Given the description of an element on the screen output the (x, y) to click on. 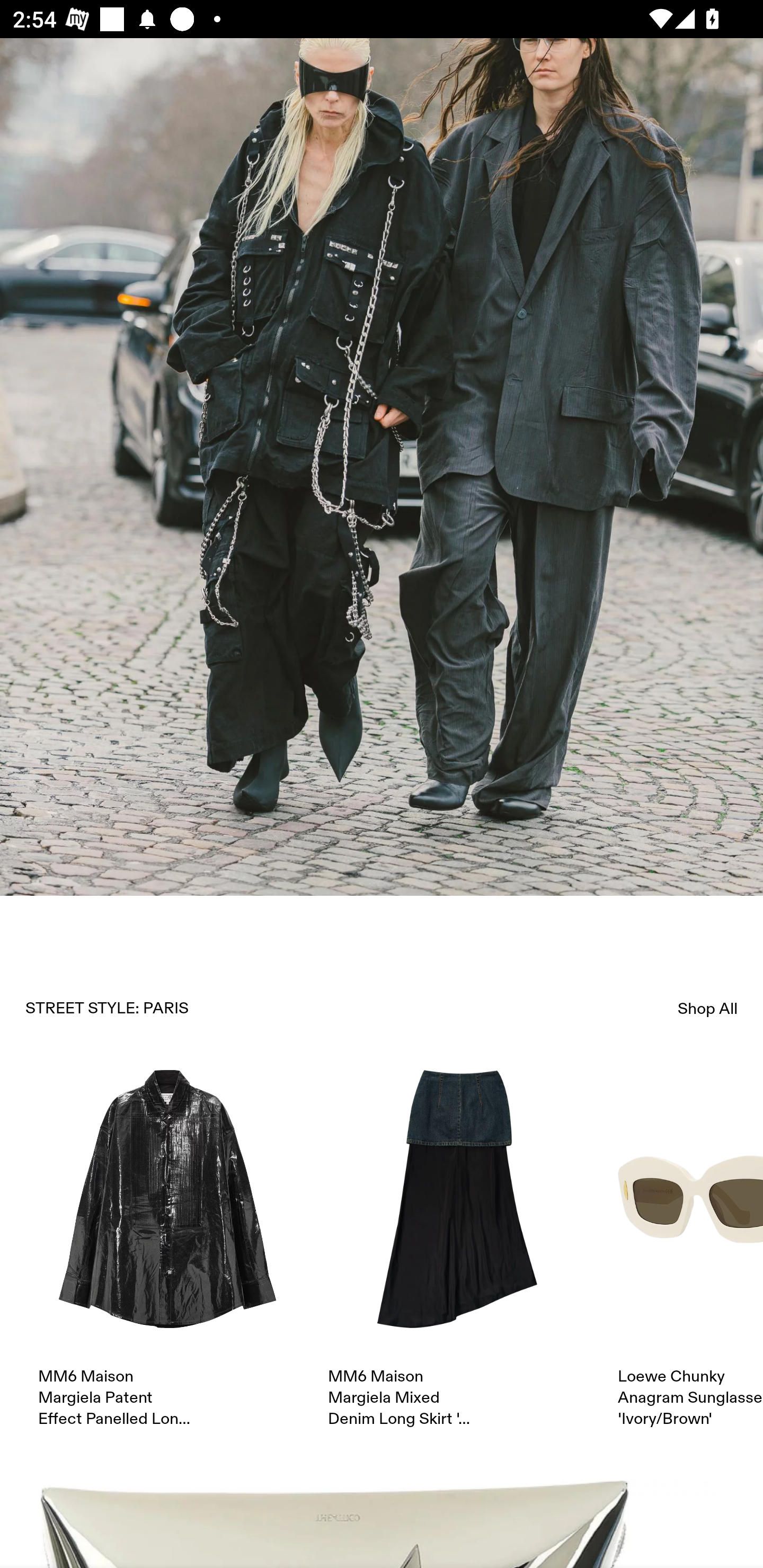
Shop All (707, 1007)
MM6 Maison Margiela Mixed Denim Long Skirt 'Blue' (456, 1249)
Loewe Chunky Anagram Sunglasses 'Ivory/Brown' (690, 1249)
